Given the description of an element on the screen output the (x, y) to click on. 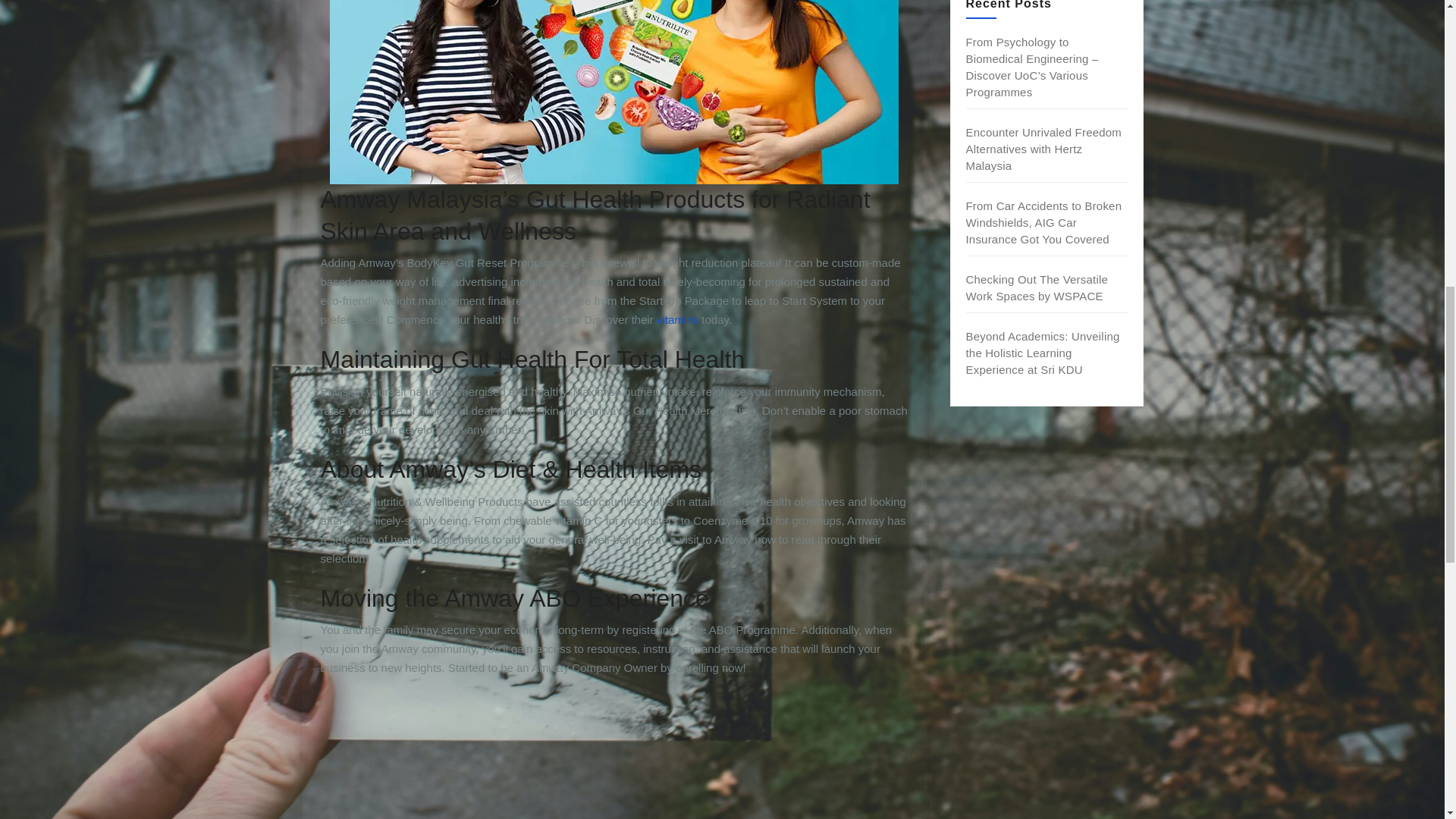
Checking Out The Versatile Work Spaces by WSPACE (1037, 287)
BodyKey Gut Reset Weight Management Programme (613, 755)
vitamins (677, 318)
Encounter Unrivaled Freedom Alternatives with Hertz Malaysia (1044, 148)
